Given the description of an element on the screen output the (x, y) to click on. 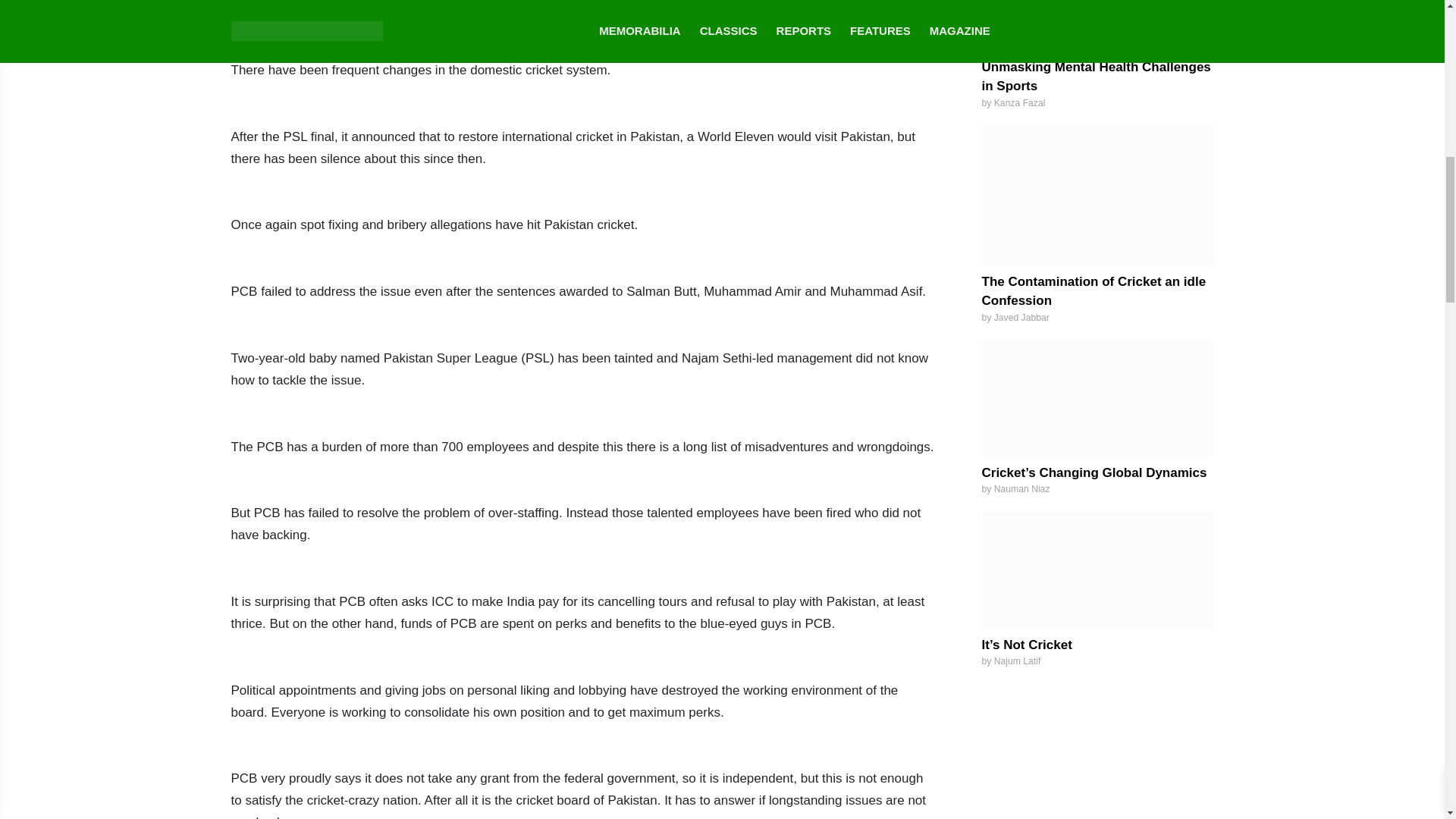
Unmasking Mental Health Challenges in Sports (1095, 76)
The Contamination of Cricket an idle Confession (1093, 291)
